Given the description of an element on the screen output the (x, y) to click on. 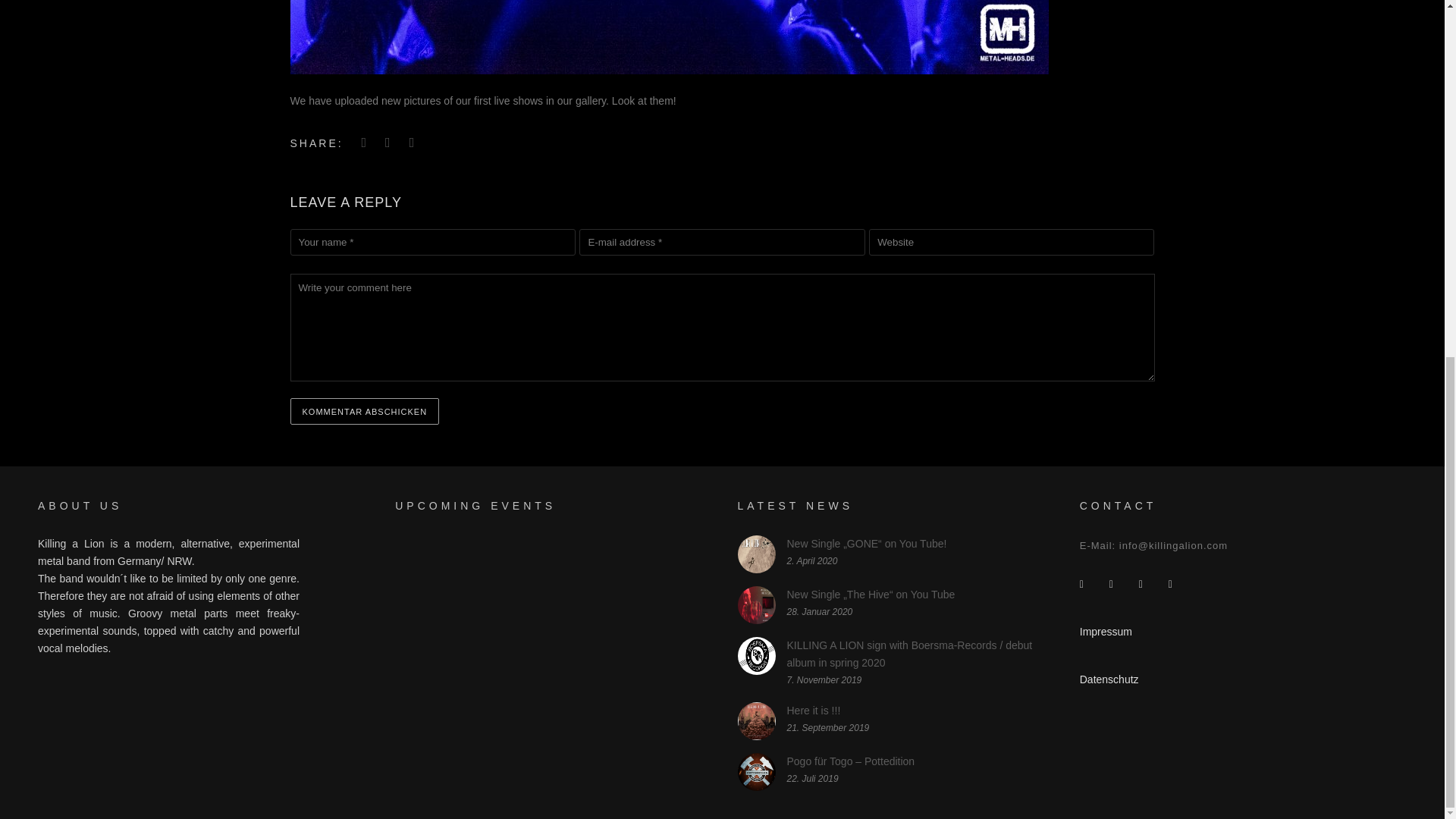
Kommentar abschicken (364, 411)
Kommentar abschicken (364, 411)
Here it is !!! (814, 710)
